Given the description of an element on the screen output the (x, y) to click on. 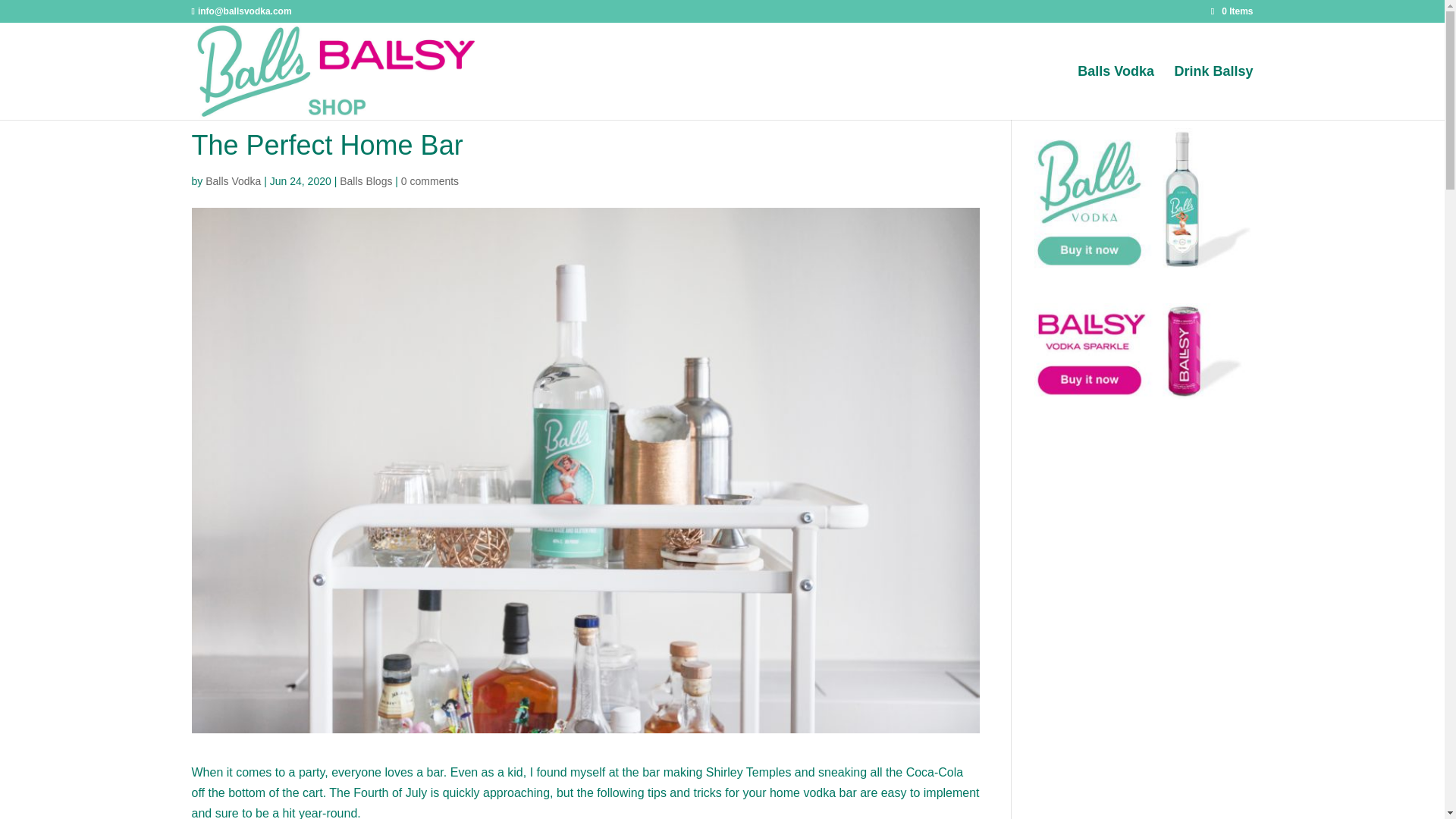
Balls Vodka (1115, 92)
0 comments (429, 181)
Posts by Balls Vodka (232, 181)
0 Items (1232, 10)
Balls Blogs (365, 181)
Balls Vodka (232, 181)
Drink Ballsy (1212, 92)
